Given the description of an element on the screen output the (x, y) to click on. 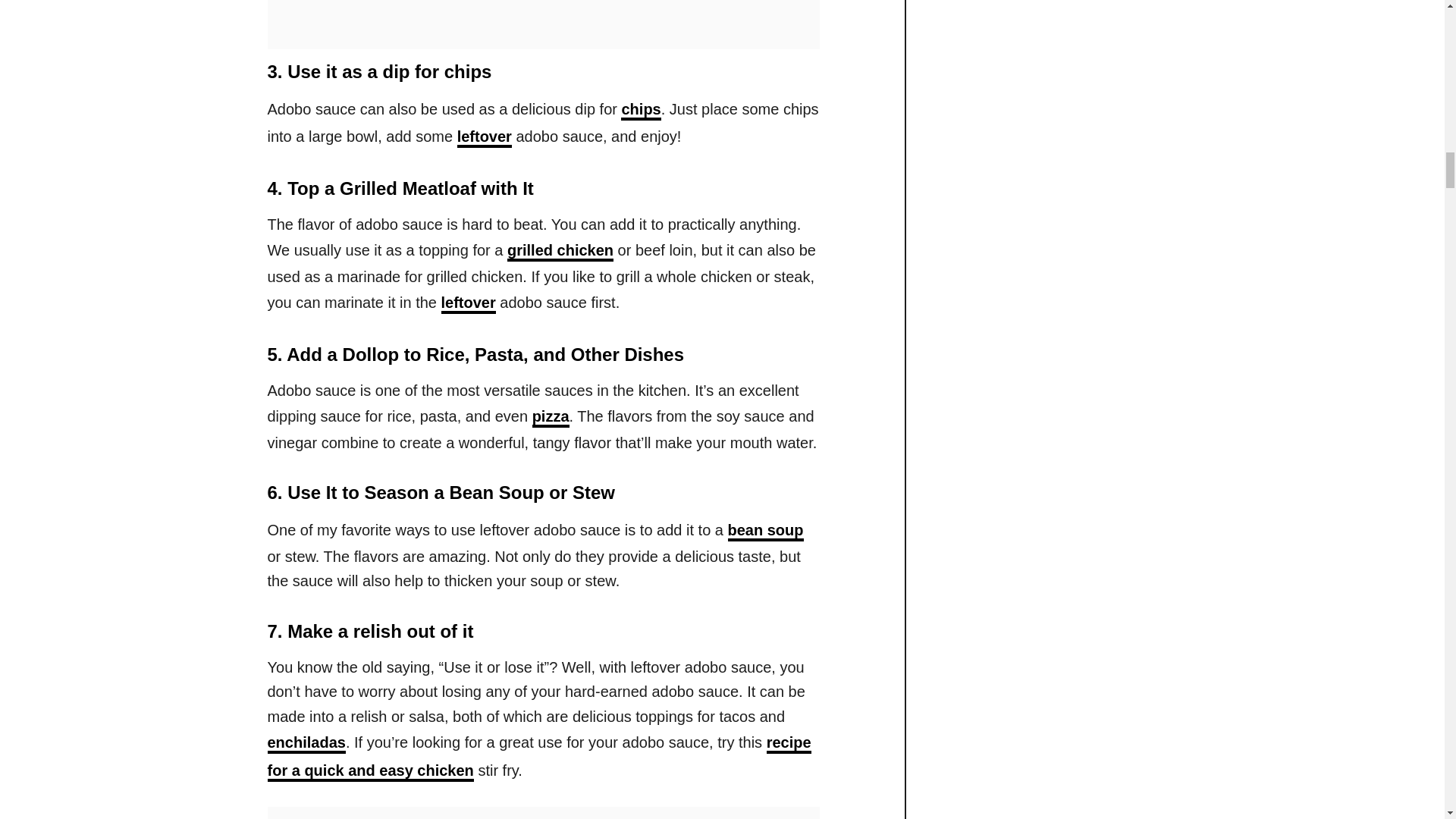
leftover (484, 137)
bean soup (765, 531)
chips (641, 110)
grilled chicken (559, 251)
leftover (468, 303)
pizza (550, 417)
bean soup (765, 531)
pizza (550, 417)
enchiladas (305, 743)
grilled chicken (559, 251)
